Given the description of an element on the screen output the (x, y) to click on. 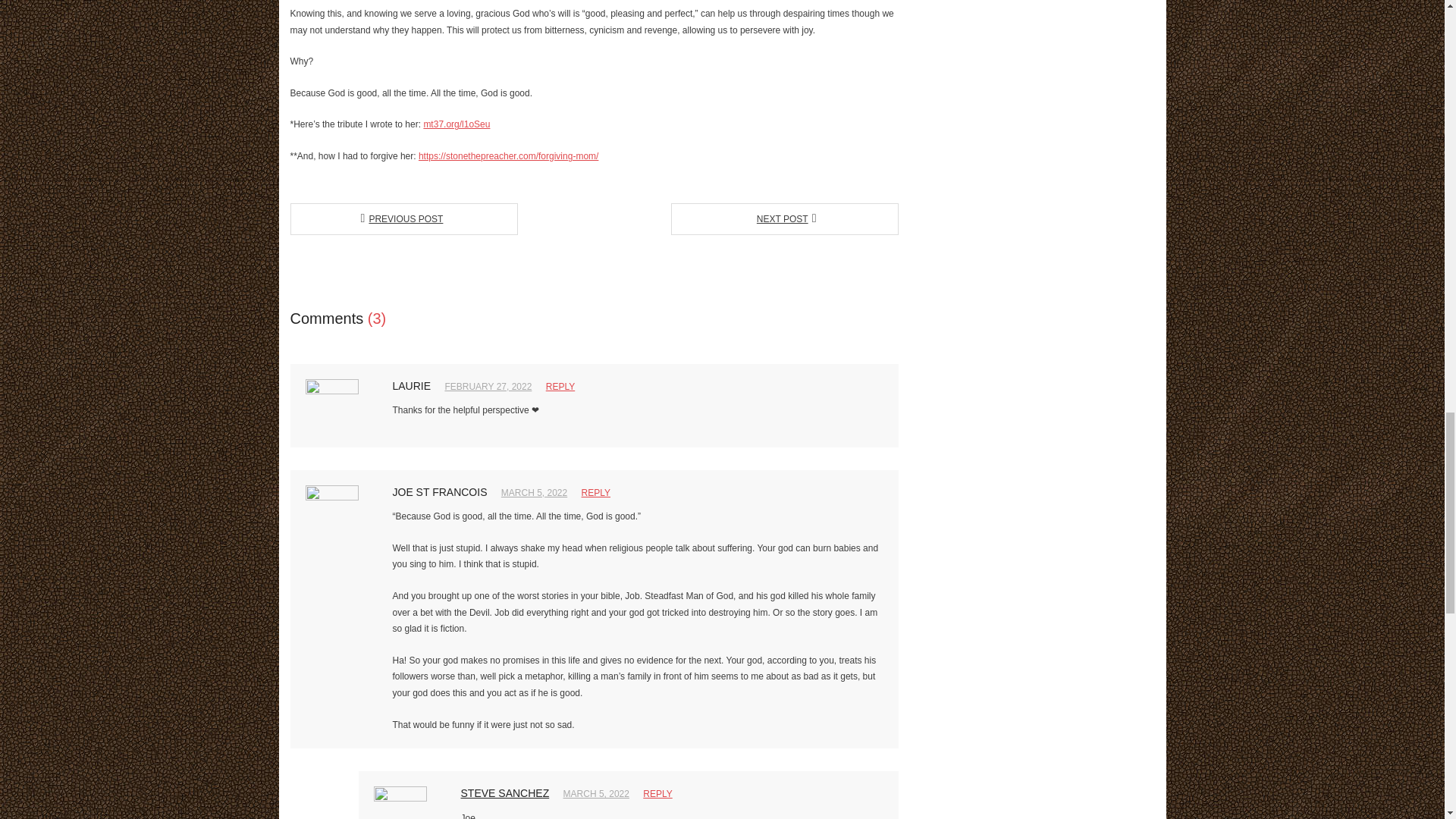
MARCH 5, 2022 (595, 793)
NEXT POST (784, 219)
STEVE SANCHEZ (505, 793)
REPLY (560, 386)
MARCH 5, 2022 (533, 492)
FEBRUARY 27, 2022 (487, 386)
REPLY (657, 793)
PREVIOUS POST (402, 219)
REPLY (595, 492)
